Given the description of an element on the screen output the (x, y) to click on. 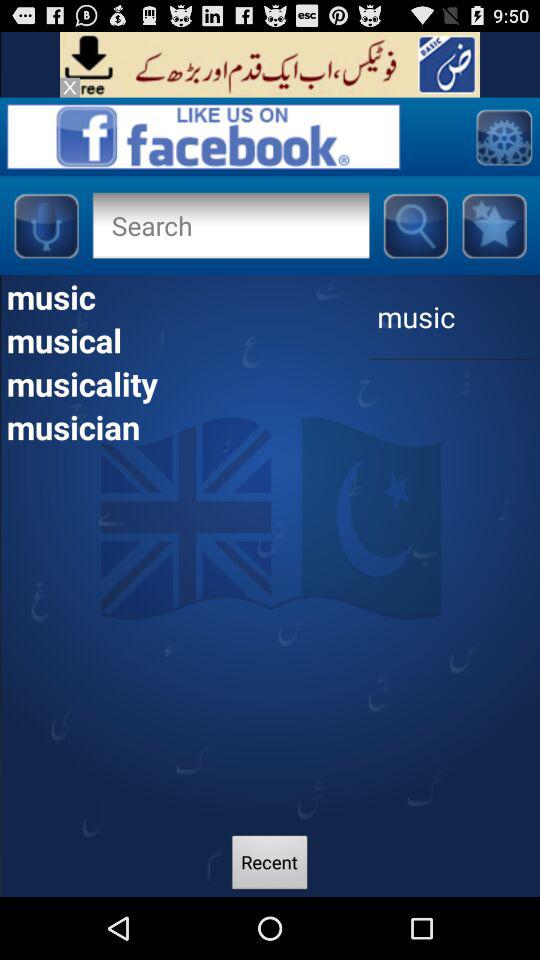
turn on microphone (45, 225)
